Given the description of an element on the screen output the (x, y) to click on. 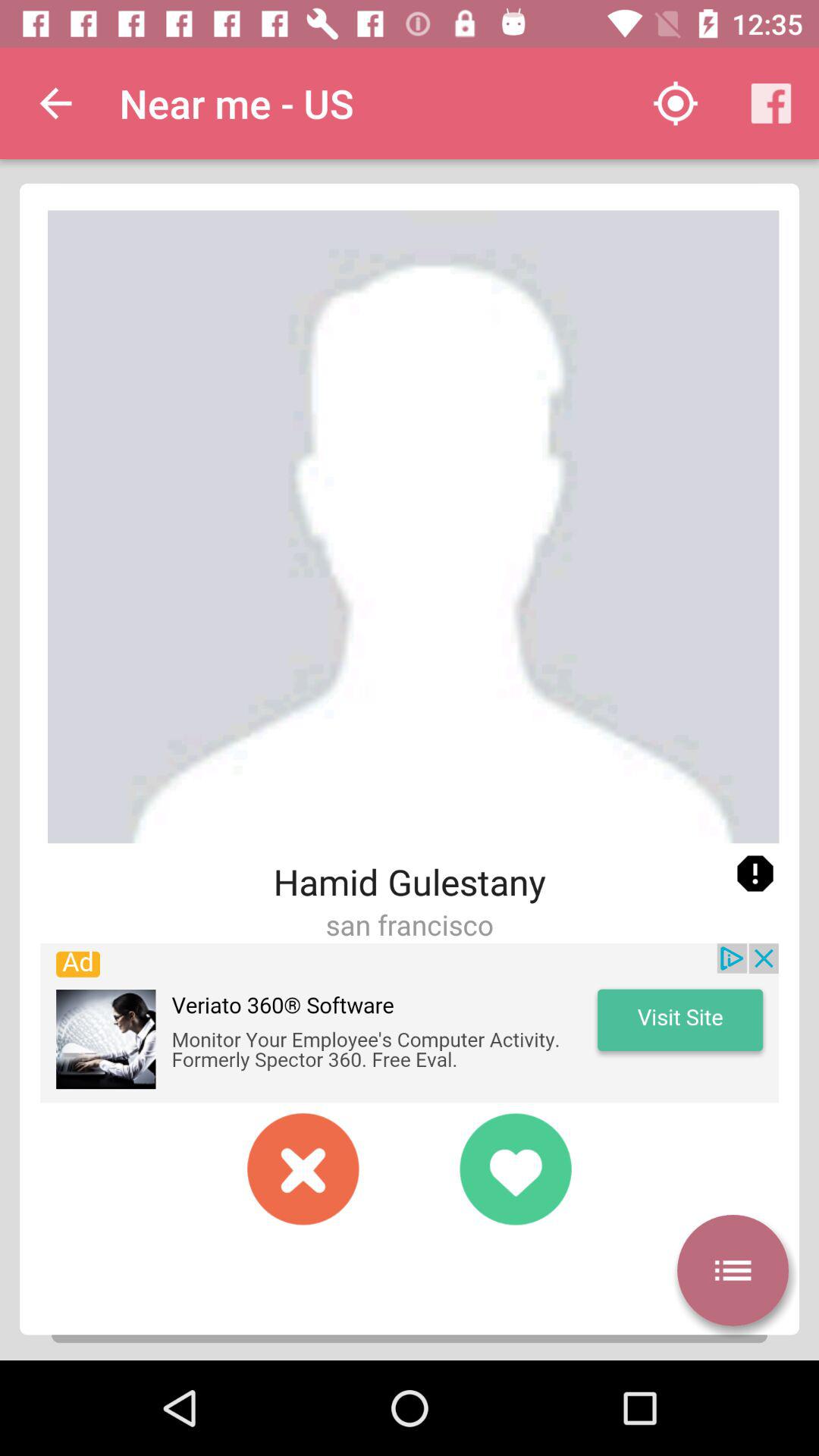
it has a button for the option to report a person (755, 873)
